Given the description of an element on the screen output the (x, y) to click on. 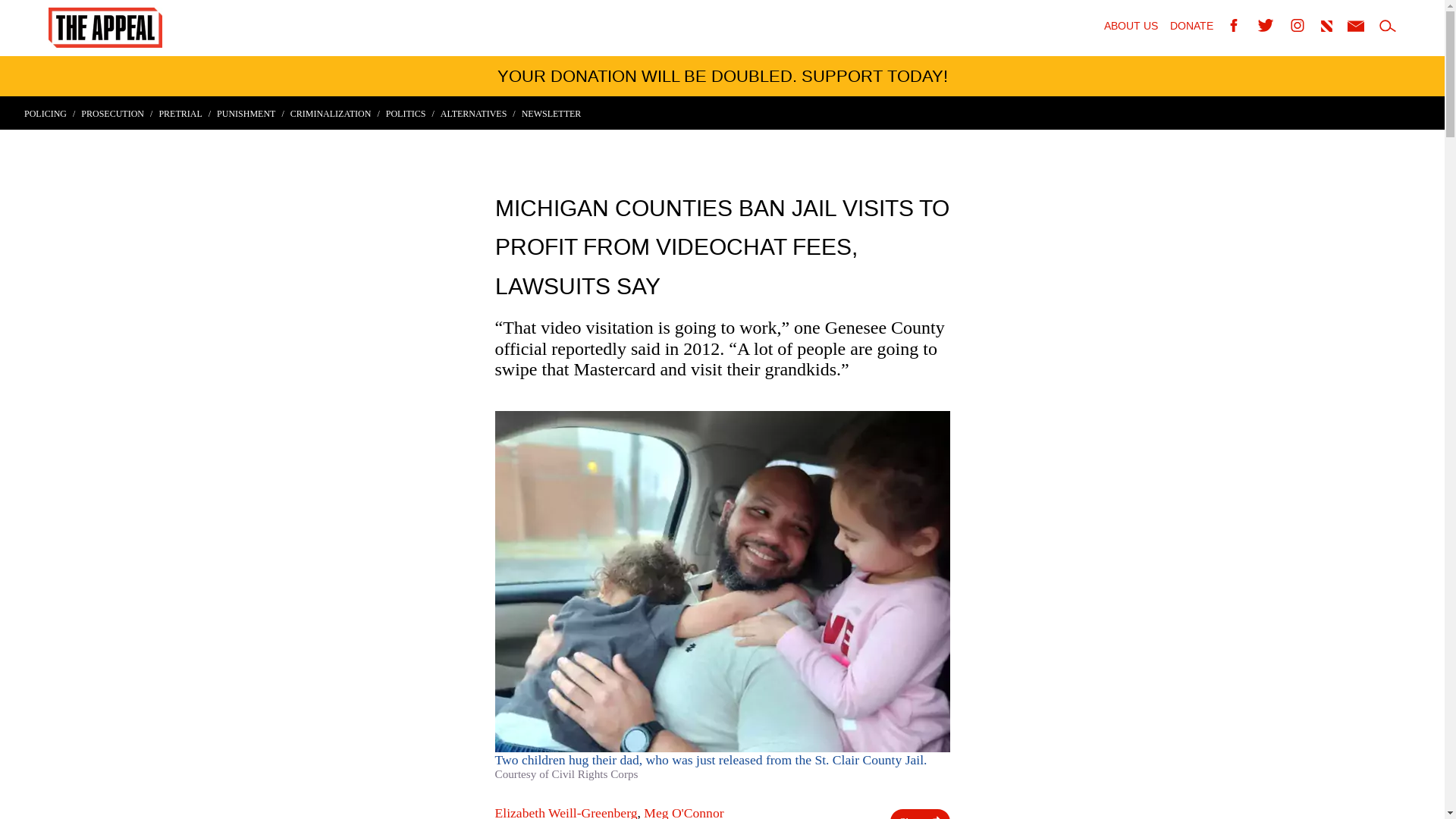
Elizabeth Weill-Greenberg (566, 812)
Politics (409, 113)
Meg O'Connor (683, 812)
Policing (49, 113)
ABOUT US (1130, 27)
Share (919, 814)
PUNISHMENT (249, 113)
PRETRIAL (184, 113)
Pretrial (184, 113)
Criminalization (334, 113)
